Given the description of an element on the screen output the (x, y) to click on. 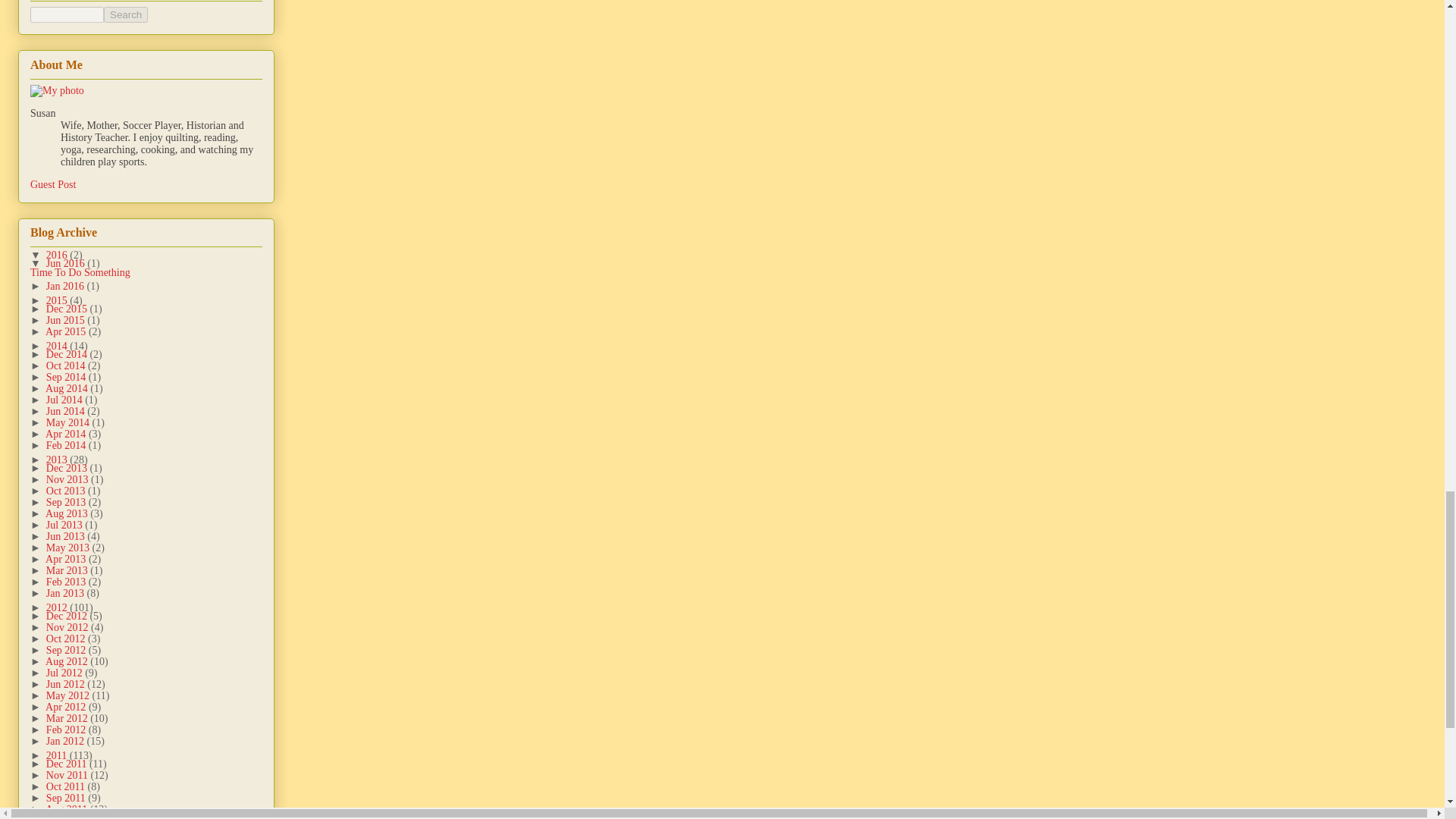
Search (125, 14)
Search (125, 14)
Time To Do Something (80, 272)
Jan 2016 (66, 285)
Guest Post (52, 184)
search (66, 14)
Jun 2016 (66, 263)
2016 (57, 255)
Search (125, 14)
search (125, 14)
